Given the description of an element on the screen output the (x, y) to click on. 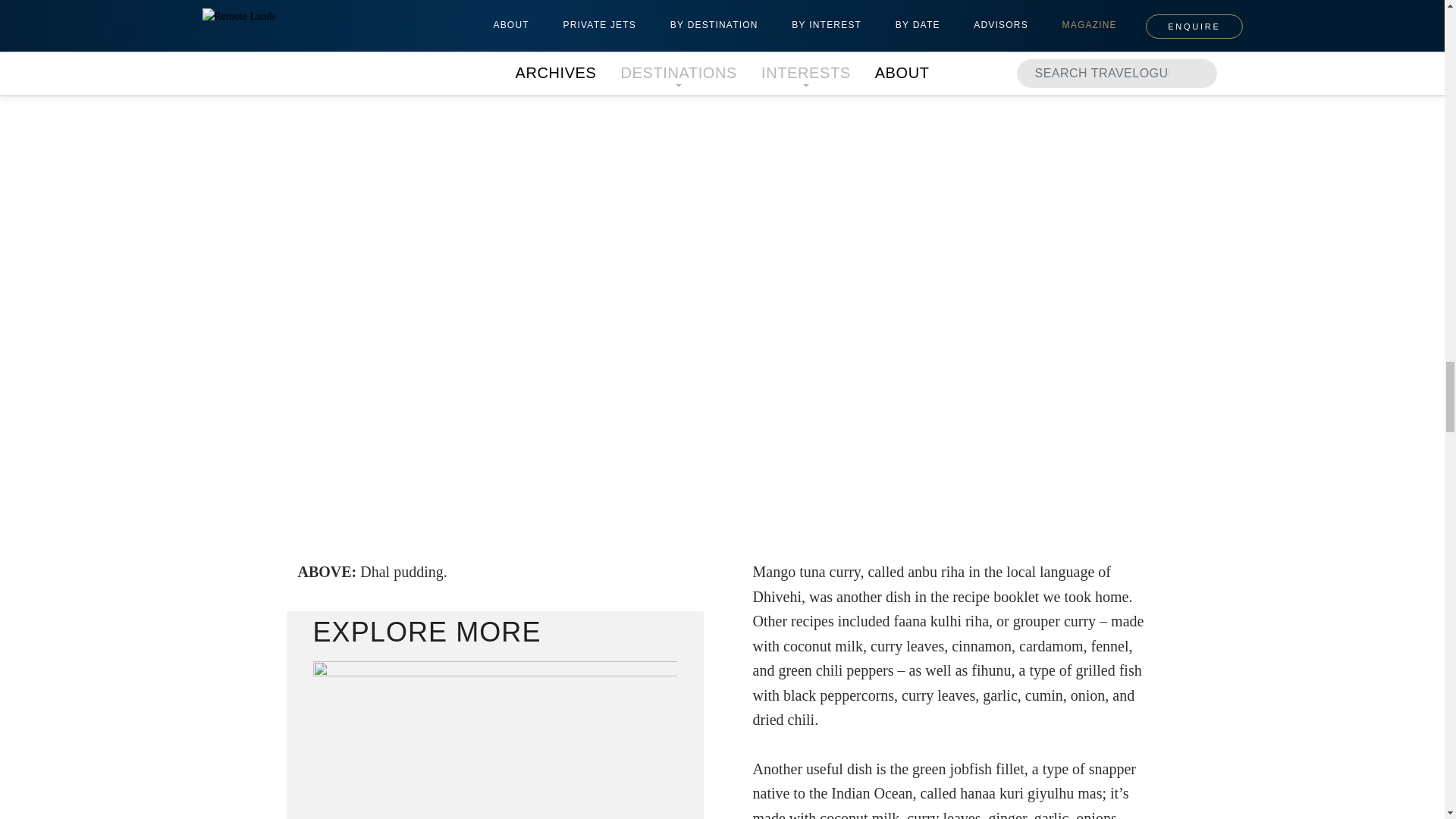
b140609004 (495, 739)
